Given the description of an element on the screen output the (x, y) to click on. 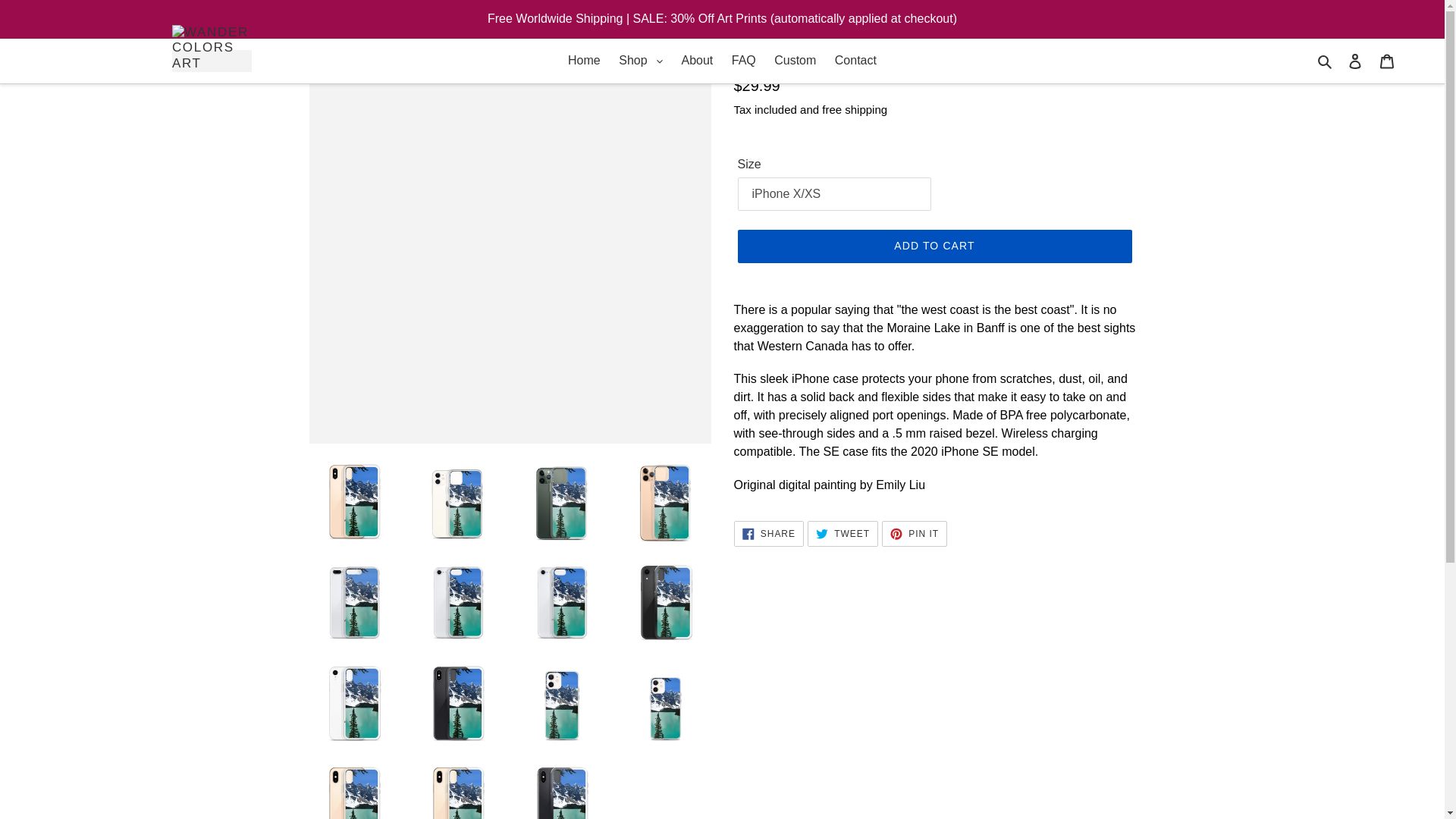
Contact (855, 60)
Home (584, 60)
Log in (1355, 60)
About (696, 60)
Cart (1387, 60)
Custom (795, 60)
FAQ (742, 60)
Shop (640, 60)
Search (1326, 60)
